Given the description of an element on the screen output the (x, y) to click on. 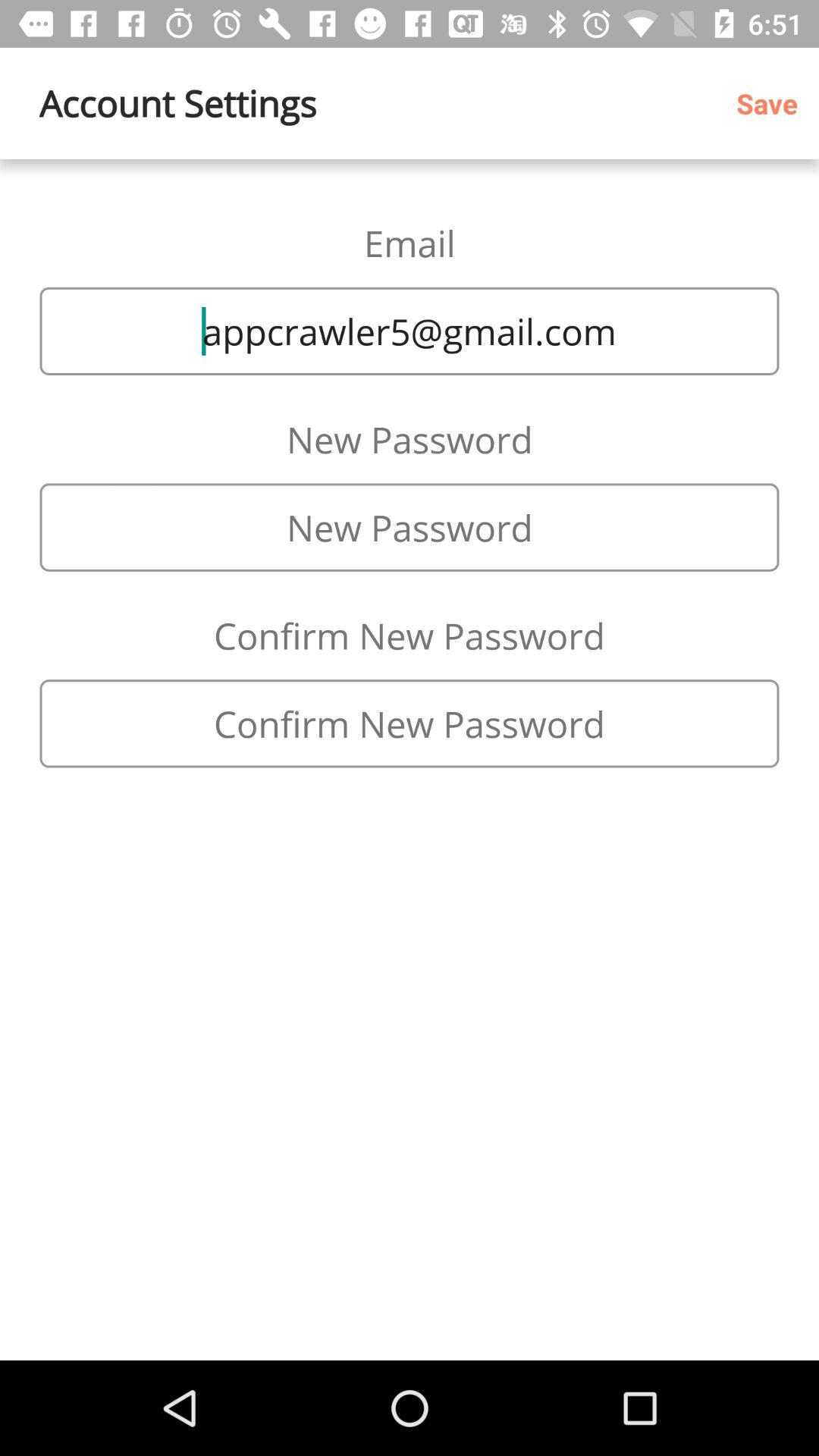
type new password (409, 723)
